Given the description of an element on the screen output the (x, y) to click on. 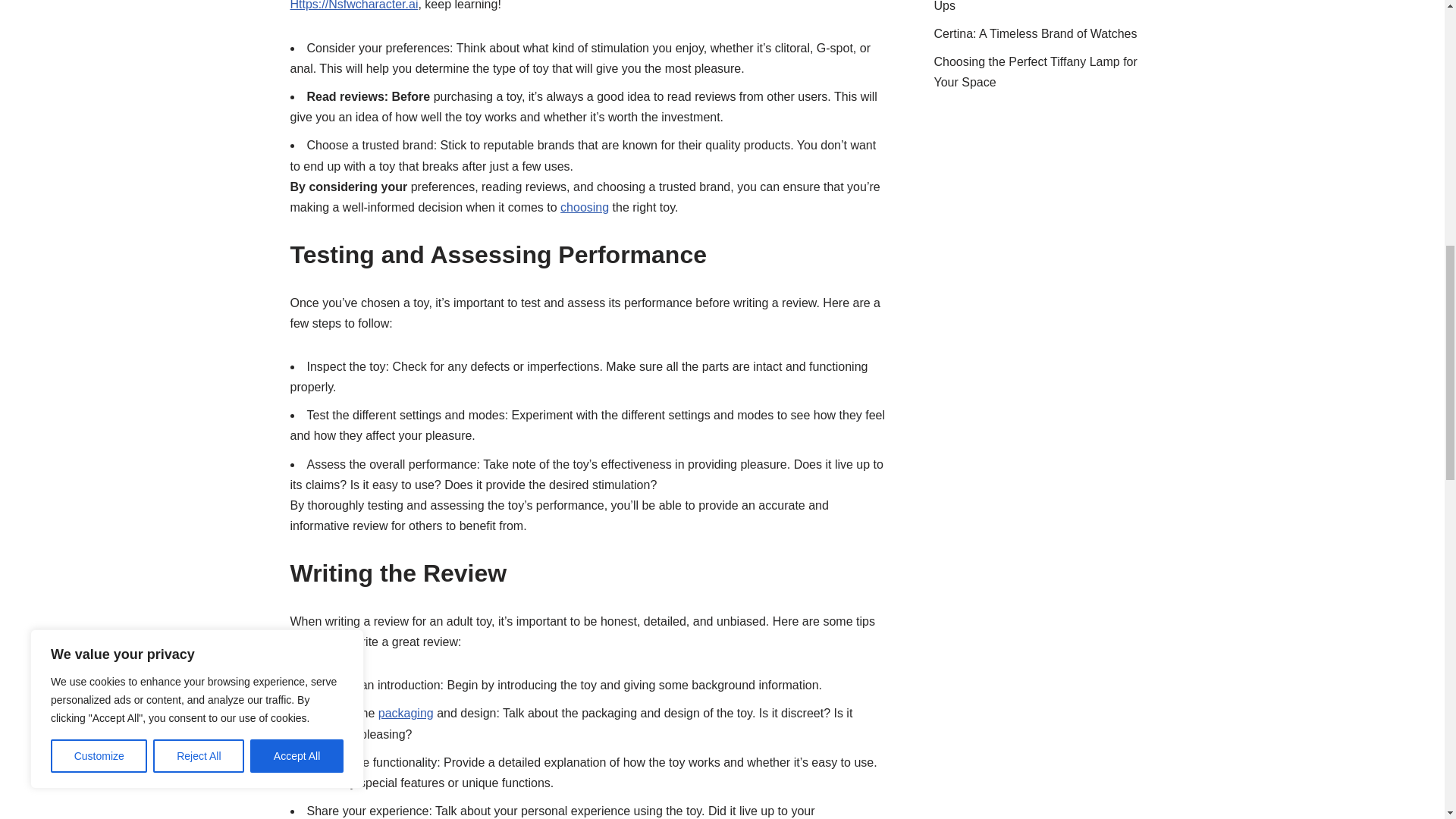
packaging (405, 712)
choosing (584, 206)
